Given the description of an element on the screen output the (x, y) to click on. 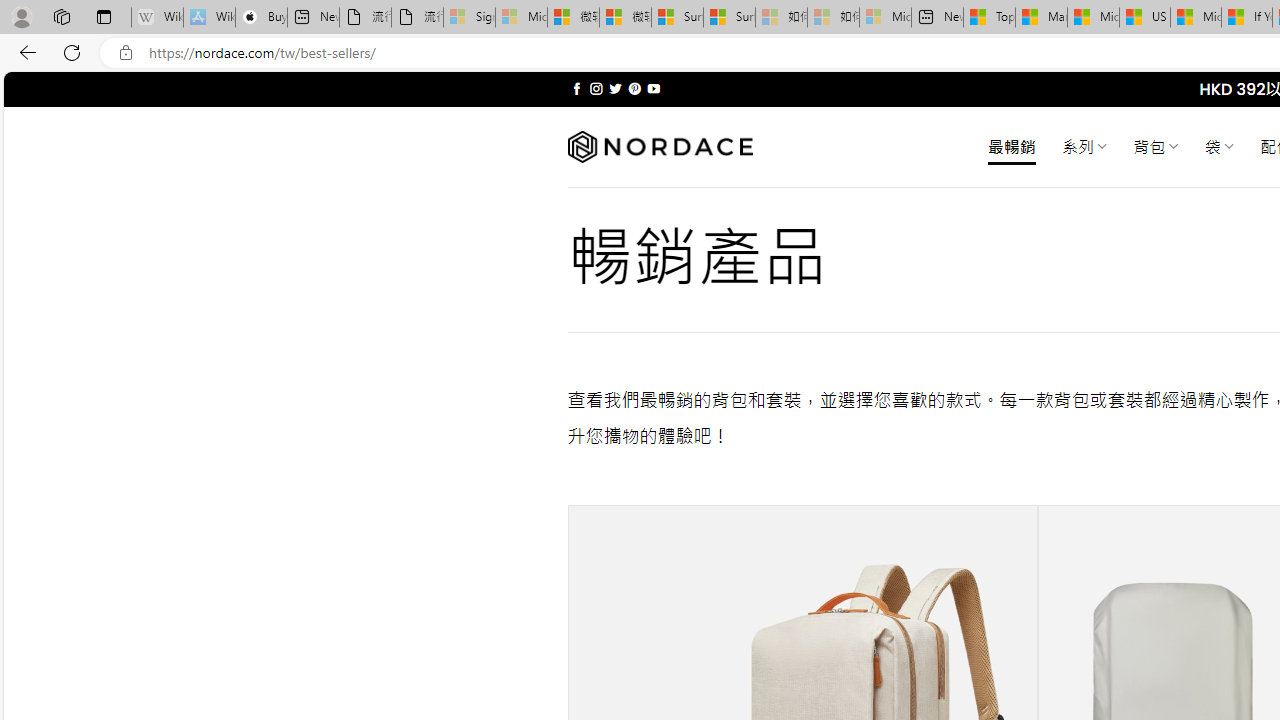
Follow on Facebook (576, 88)
Follow on Twitter (615, 88)
Personal Profile (21, 16)
Microsoft Start (1196, 17)
Microsoft account | Account Checkup - Sleeping (885, 17)
Nordace (659, 147)
Marine life - MSN (1041, 17)
Follow on YouTube (653, 88)
Follow on Instagram (596, 88)
Sign in to your Microsoft account - Sleeping (469, 17)
Top Stories - MSN (989, 17)
Back (24, 52)
Refresh (72, 52)
Microsoft Services Agreement - Sleeping (520, 17)
